Given the description of an element on the screen output the (x, y) to click on. 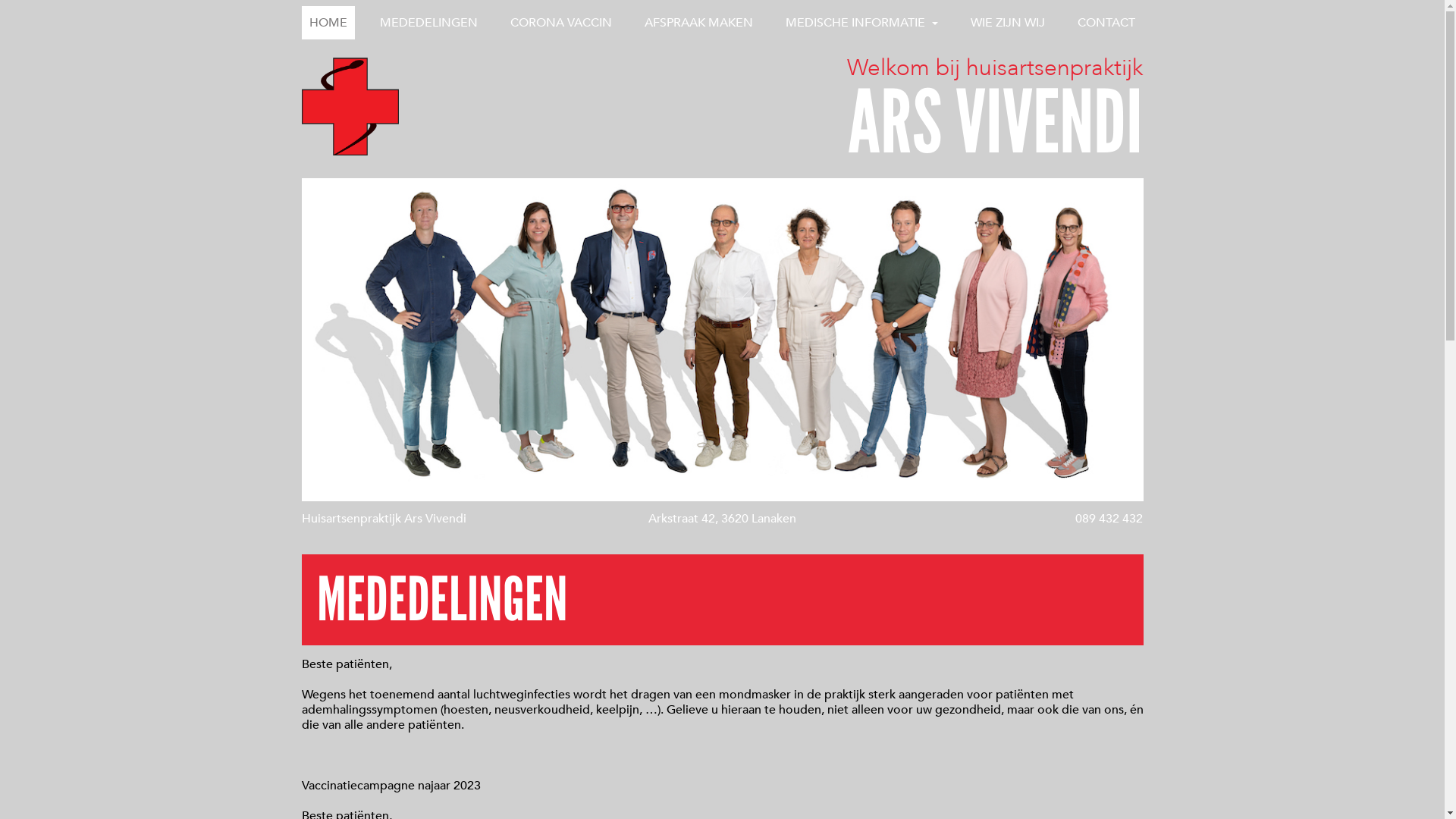
AFSPRAAK MAKEN Element type: text (698, 22)
MEDEDELINGEN Element type: text (428, 22)
HOME Element type: text (328, 22)
CONTACT Element type: text (1106, 22)
WIE ZIJN WIJ Element type: text (1007, 22)
CORONA VACCIN Element type: text (561, 22)
MEDISCHE INFORMATIE Element type: text (861, 22)
